Given the description of an element on the screen output the (x, y) to click on. 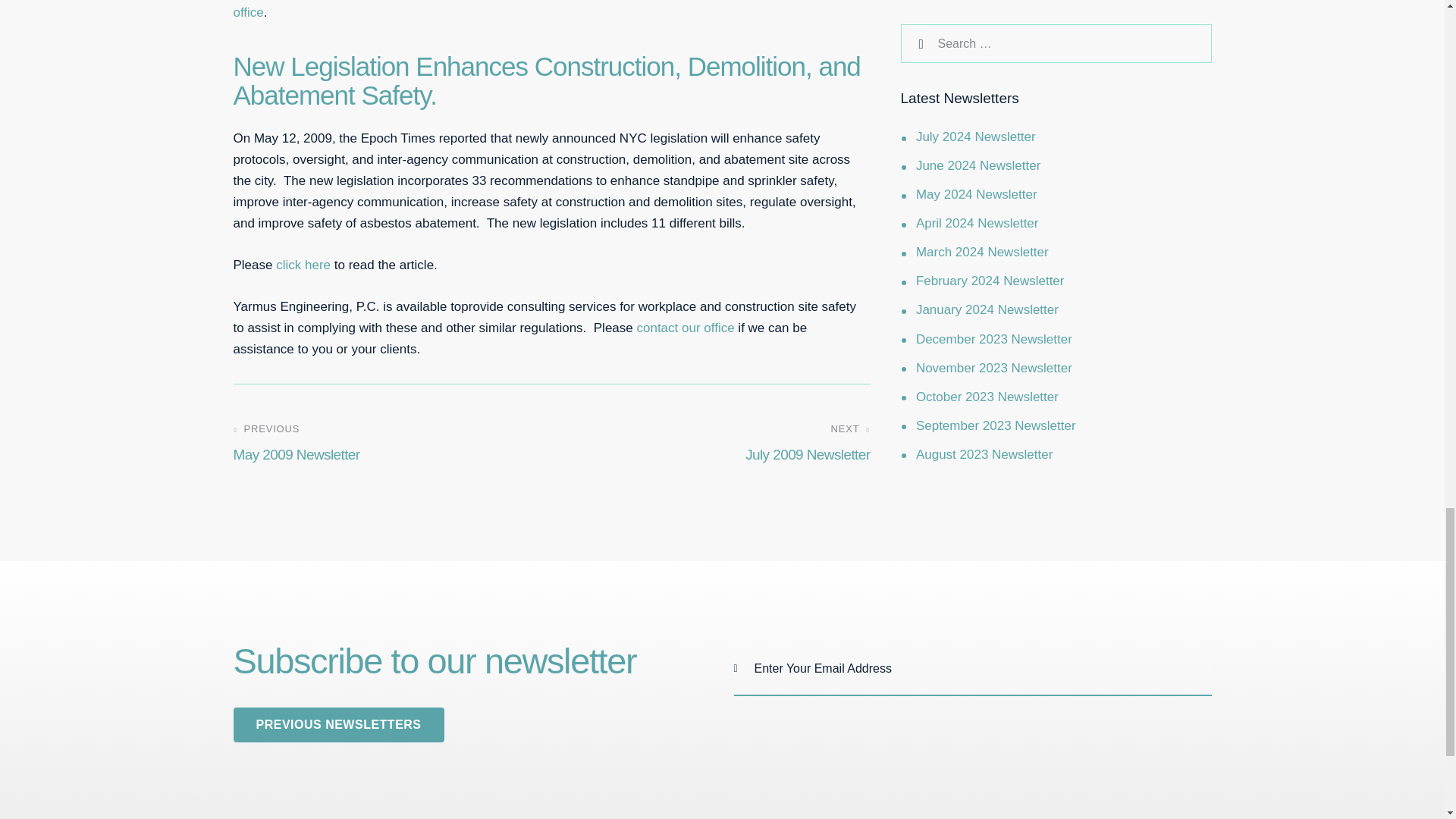
contact our office (715, 444)
click here (684, 327)
contact our office (386, 444)
